Given the description of an element on the screen output the (x, y) to click on. 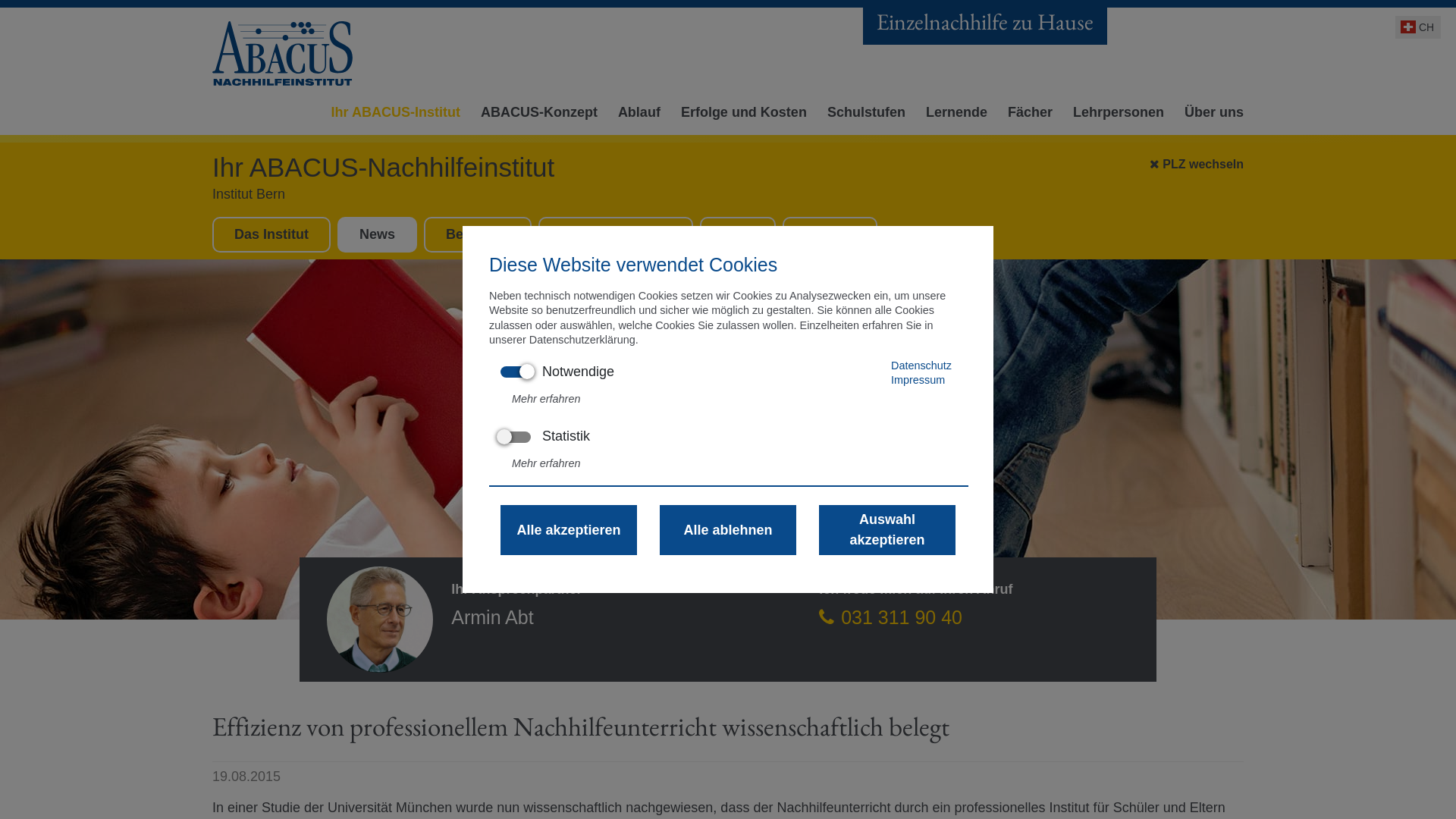
Impressum Element type: text (917, 379)
ABACUS-Konzept Element type: text (535, 116)
Kontakt Element type: text (829, 233)
Alle ablehnen Element type: text (727, 530)
Jobs Element type: text (737, 233)
News Element type: text (377, 233)
Erfolge und Kosten Element type: text (740, 116)
Ablauf Element type: text (635, 116)
Alle akzeptieren Element type: text (568, 530)
Auswahl akzeptieren Element type: text (887, 530)
Das Institut Element type: text (271, 233)
031 311 90 40 Element type: text (890, 616)
PLZ wechseln Element type: text (1196, 160)
Nachhilfe vor Ort Element type: text (615, 233)
  ABACUS-Nachhilfeinstitut Element type: text (284, 53)
Datenschutz Element type: text (921, 365)
